Given the description of an element on the screen output the (x, y) to click on. 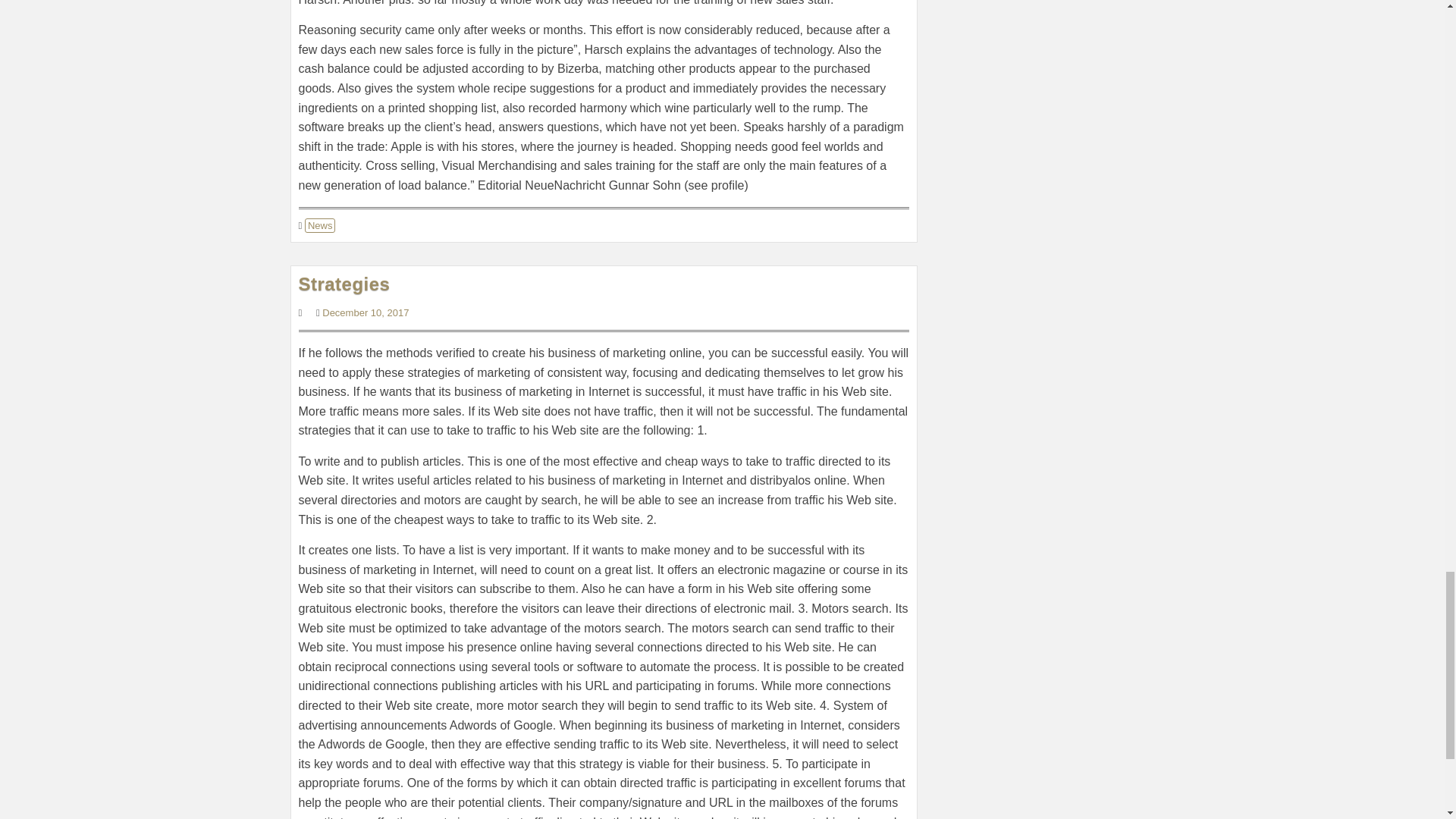
News (320, 225)
December 10, 2017 (365, 312)
Strategies (344, 283)
